Given the description of an element on the screen output the (x, y) to click on. 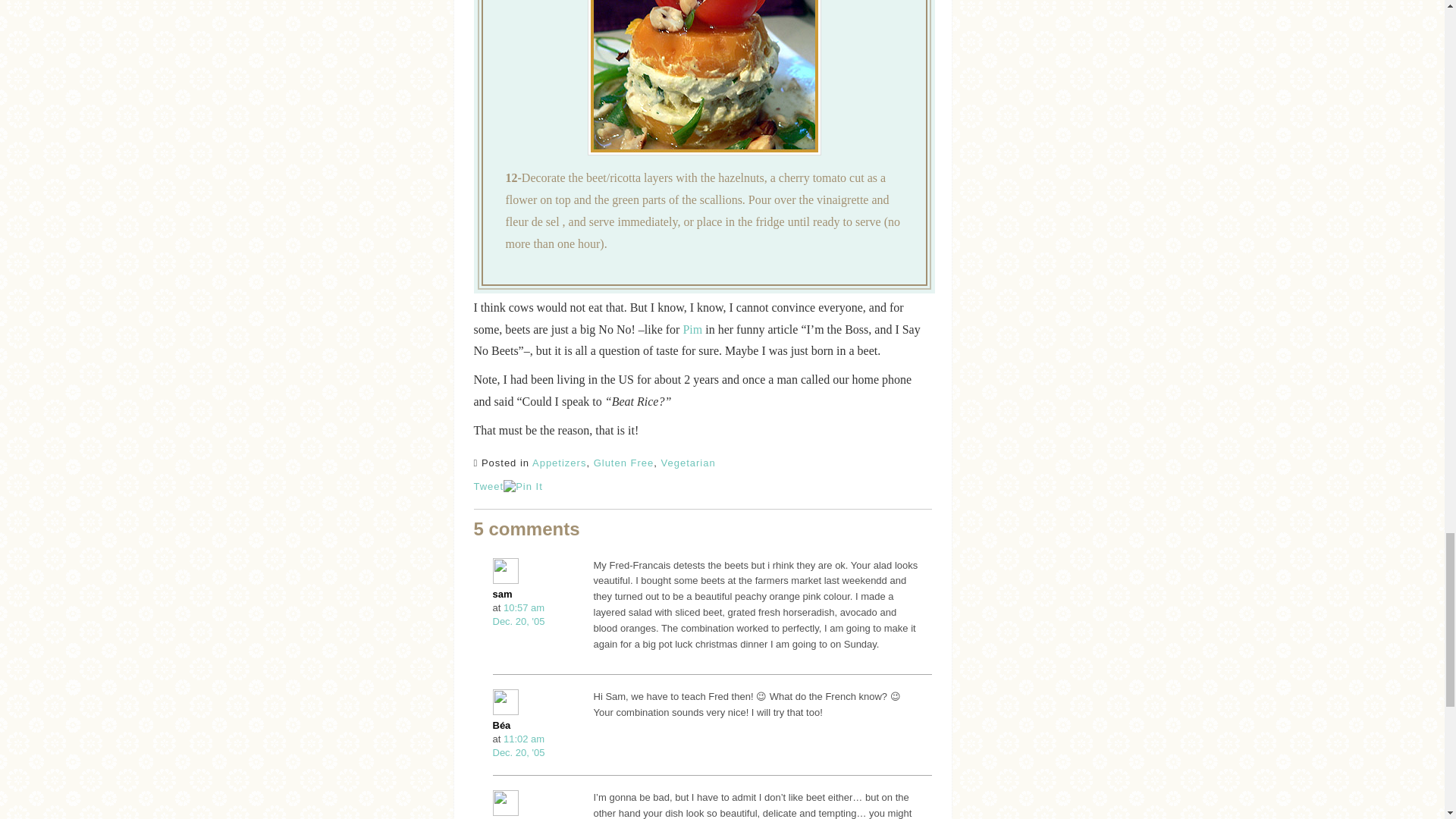
Pin It (523, 486)
Appetizers (559, 462)
Pim (691, 328)
